Given the description of an element on the screen output the (x, y) to click on. 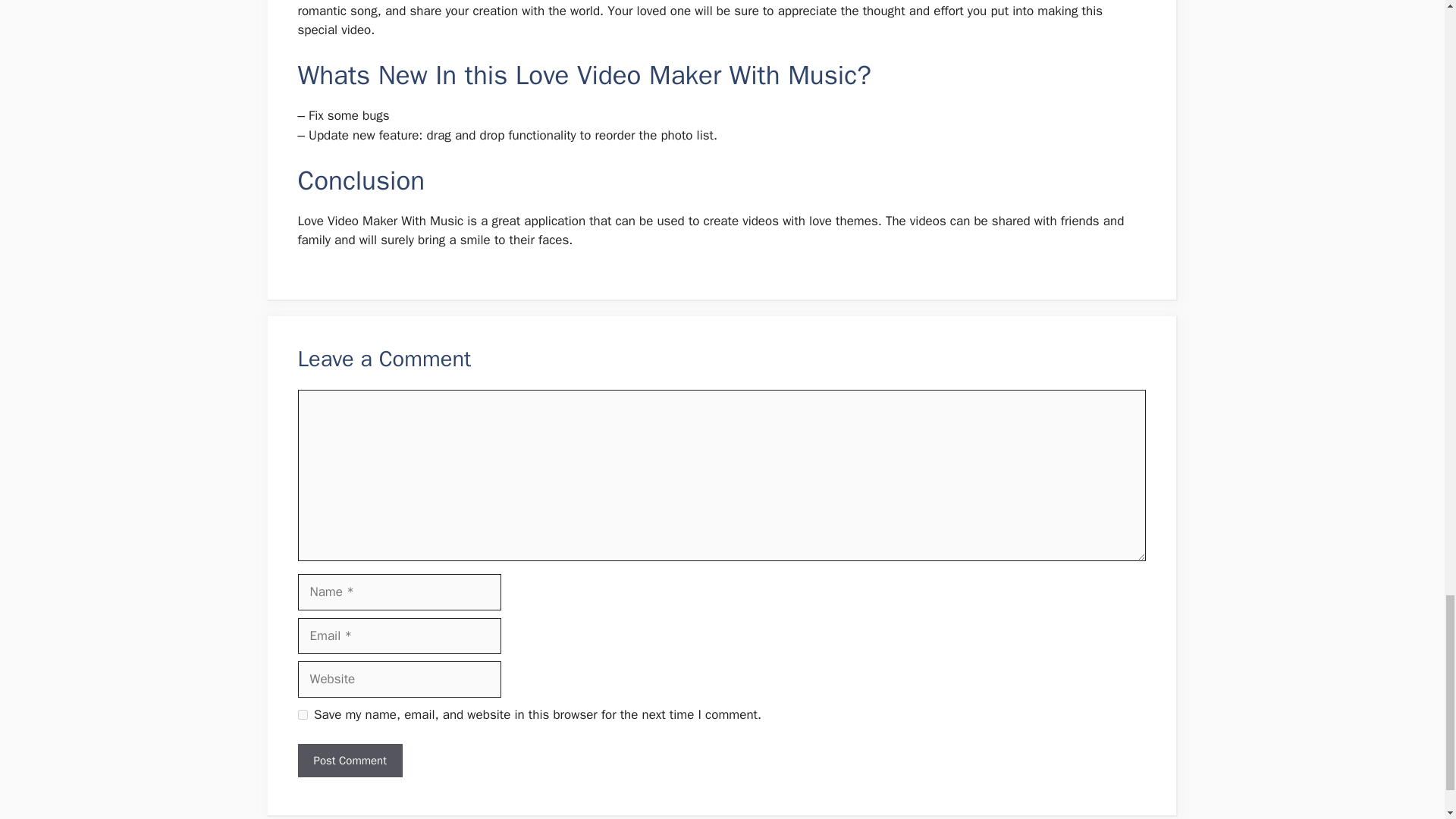
Post Comment (349, 760)
Post Comment (349, 760)
yes (302, 714)
